Given the description of an element on the screen output the (x, y) to click on. 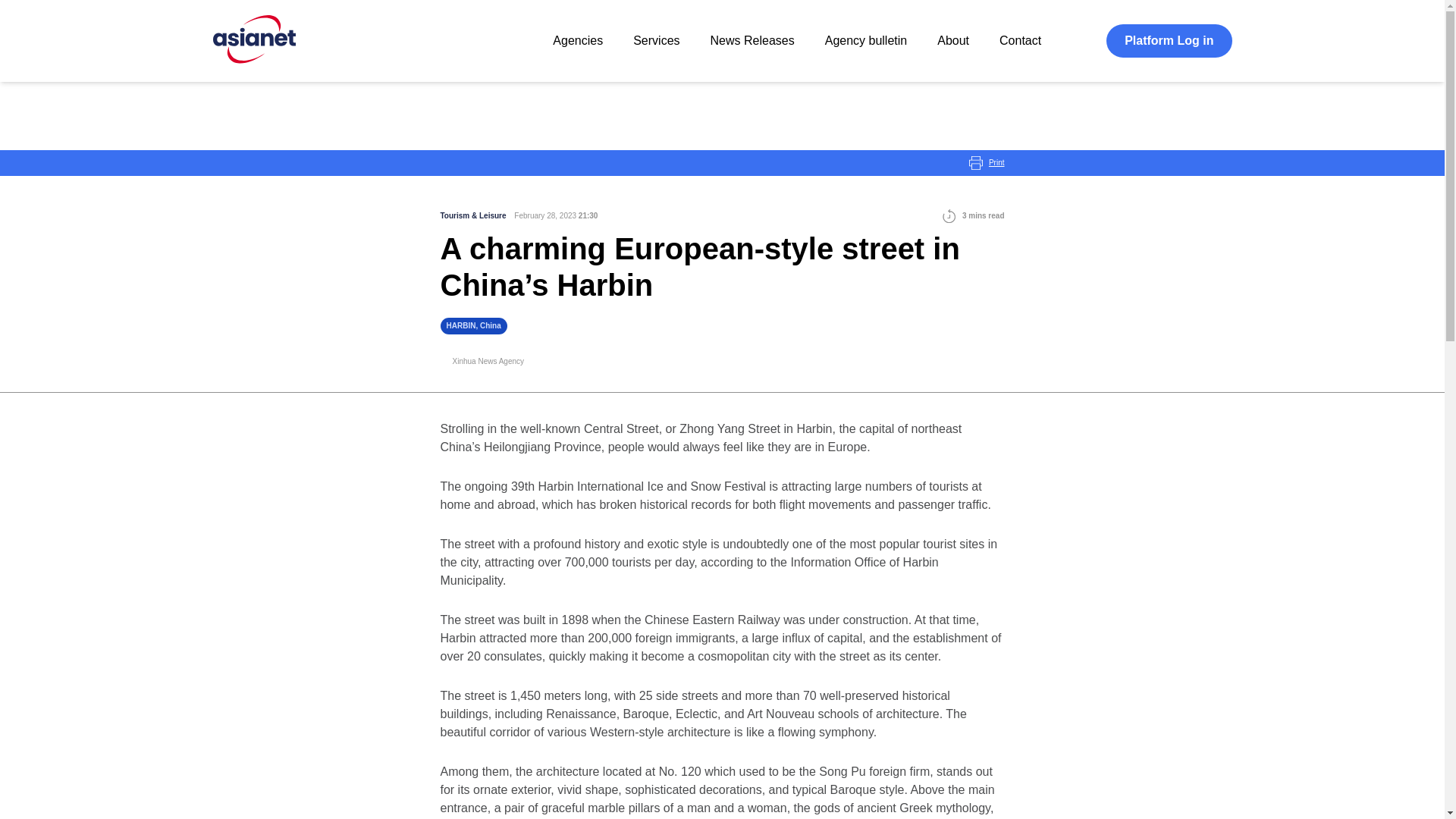
News Releases (752, 40)
Agencies (577, 40)
Agency bulletin (866, 40)
Xinhua News Agency (487, 361)
Services (656, 40)
About (953, 40)
Contact (1019, 40)
Platform Log in (1168, 40)
Print (986, 162)
